Given the description of an element on the screen output the (x, y) to click on. 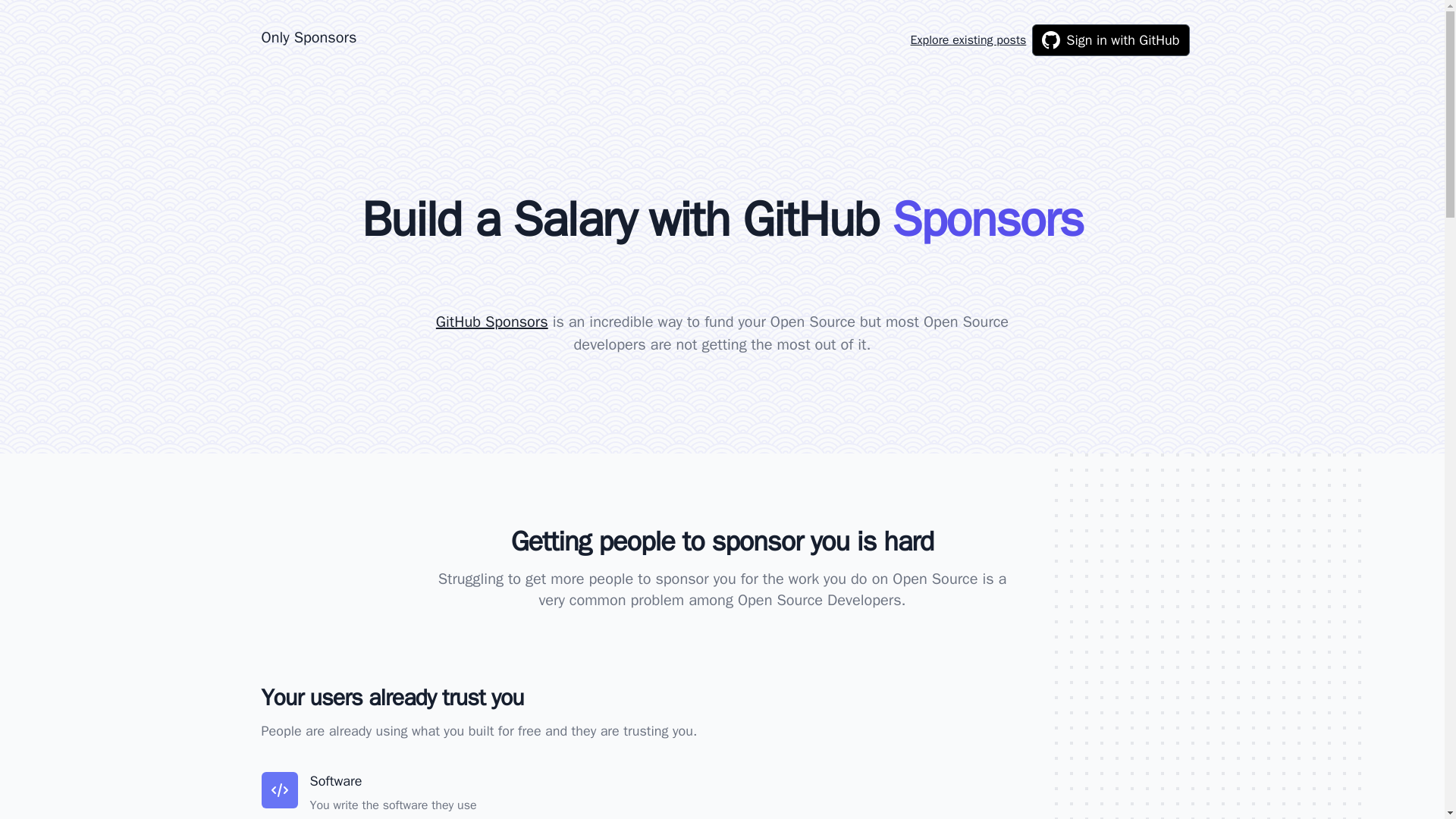
Sign in with GitHub (1110, 40)
Explore existing posts (968, 40)
GitHub Sponsors (491, 321)
